Given the description of an element on the screen output the (x, y) to click on. 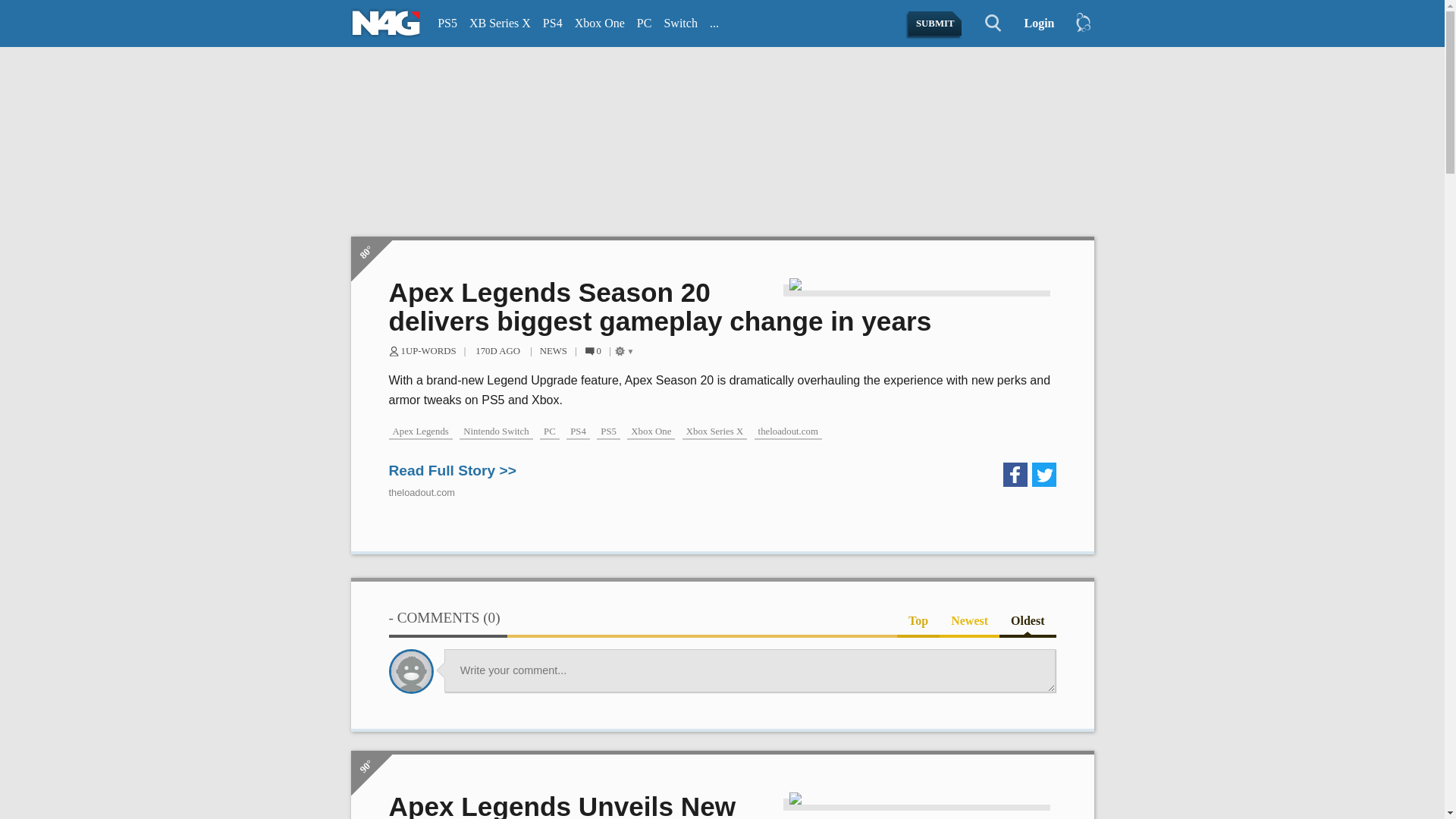
Xbox One (599, 24)
PS5 (446, 24)
Search (984, 23)
Login (1033, 23)
XB Series X (500, 24)
SUBMIT (935, 23)
Switch (680, 24)
PS4 (553, 24)
PC (644, 24)
